Given the description of an element on the screen output the (x, y) to click on. 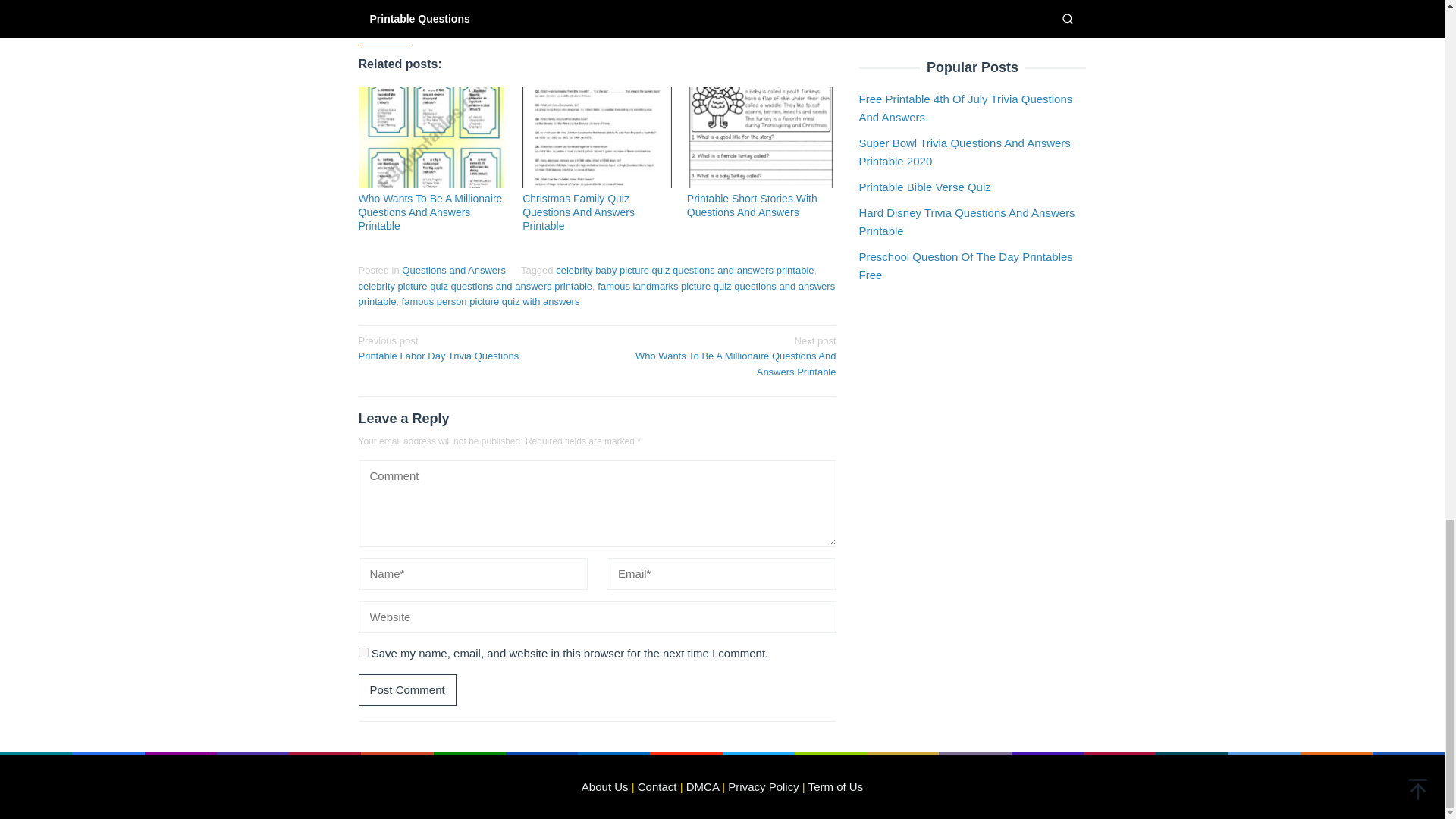
Contact (657, 786)
famous person picture quiz with answers (490, 301)
About Us (604, 786)
Questions and Answers (472, 347)
Post Comment (453, 270)
yes (406, 689)
celebrity baby picture quiz questions and answers printable (363, 652)
Like or Reblog (684, 270)
celebrity picture quiz questions and answers printable (596, 24)
Printable Short Stories With Questions And Answers (475, 285)
DMCA (751, 205)
